Given the description of an element on the screen output the (x, y) to click on. 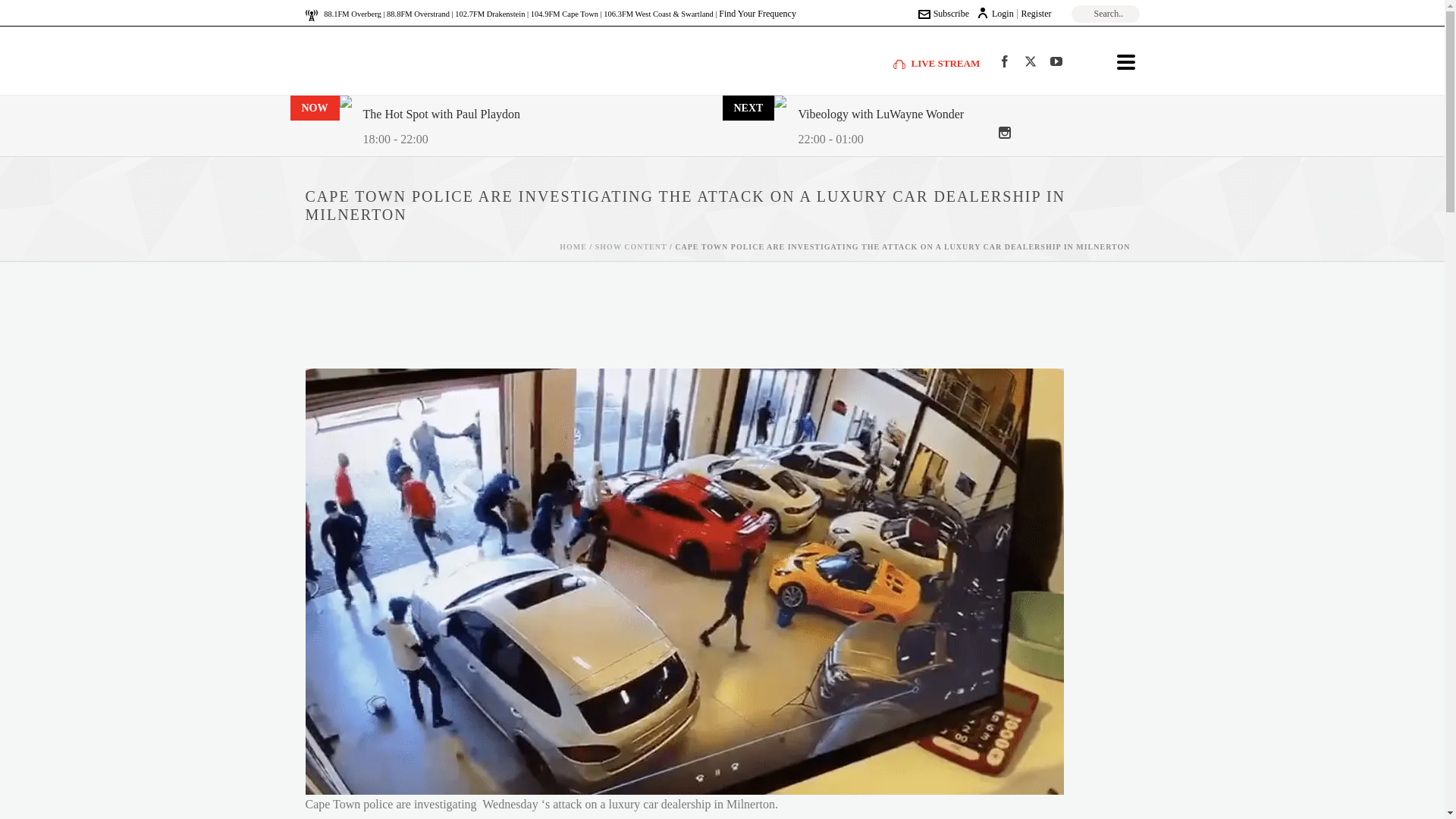
SHOW CONTENT (630, 246)
Subscribe (943, 13)
LIVE STREAM (936, 62)
Login (994, 13)
The Hot Spot with Paul Playdon (440, 114)
Find Your Frequency (757, 13)
LIVE STREAM (936, 62)
Register (1035, 13)
HOME (572, 246)
